Given the description of an element on the screen output the (x, y) to click on. 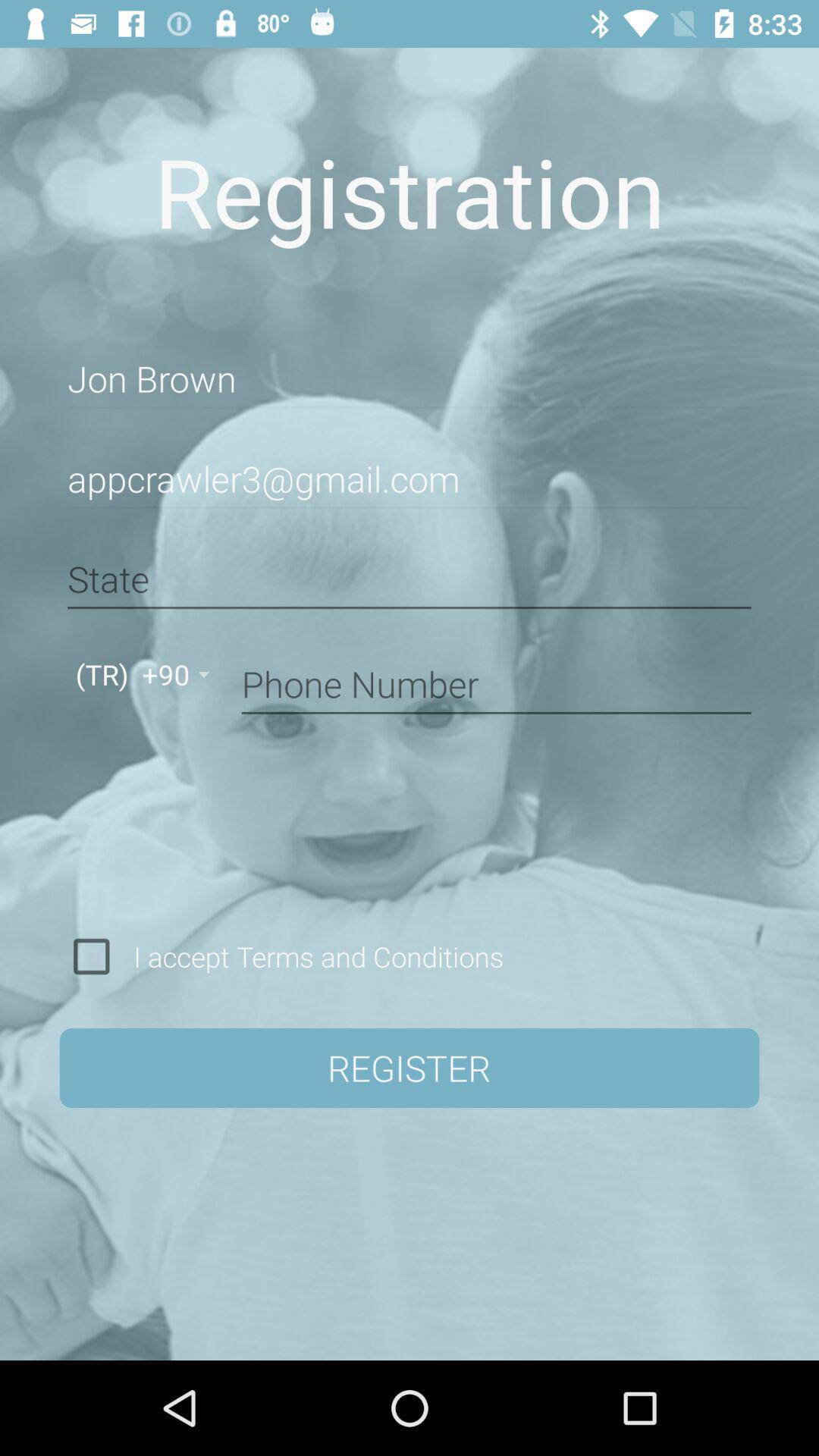
choose the item to the left of i accept terms (91, 956)
